Given the description of an element on the screen output the (x, y) to click on. 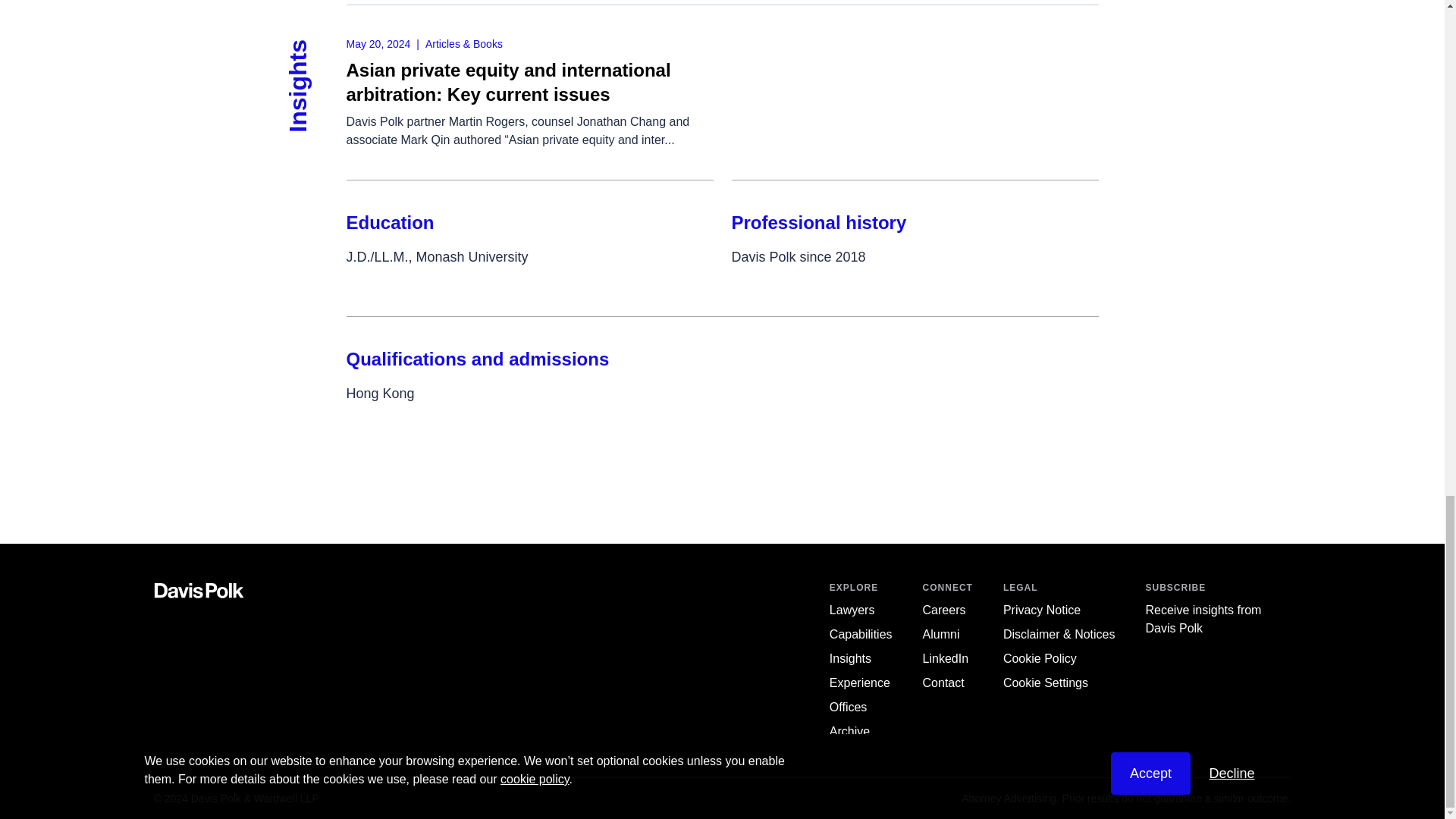
Client Updates (849, 658)
Toggle the cookie consent settings tray (1045, 682)
